Given the description of an element on the screen output the (x, y) to click on. 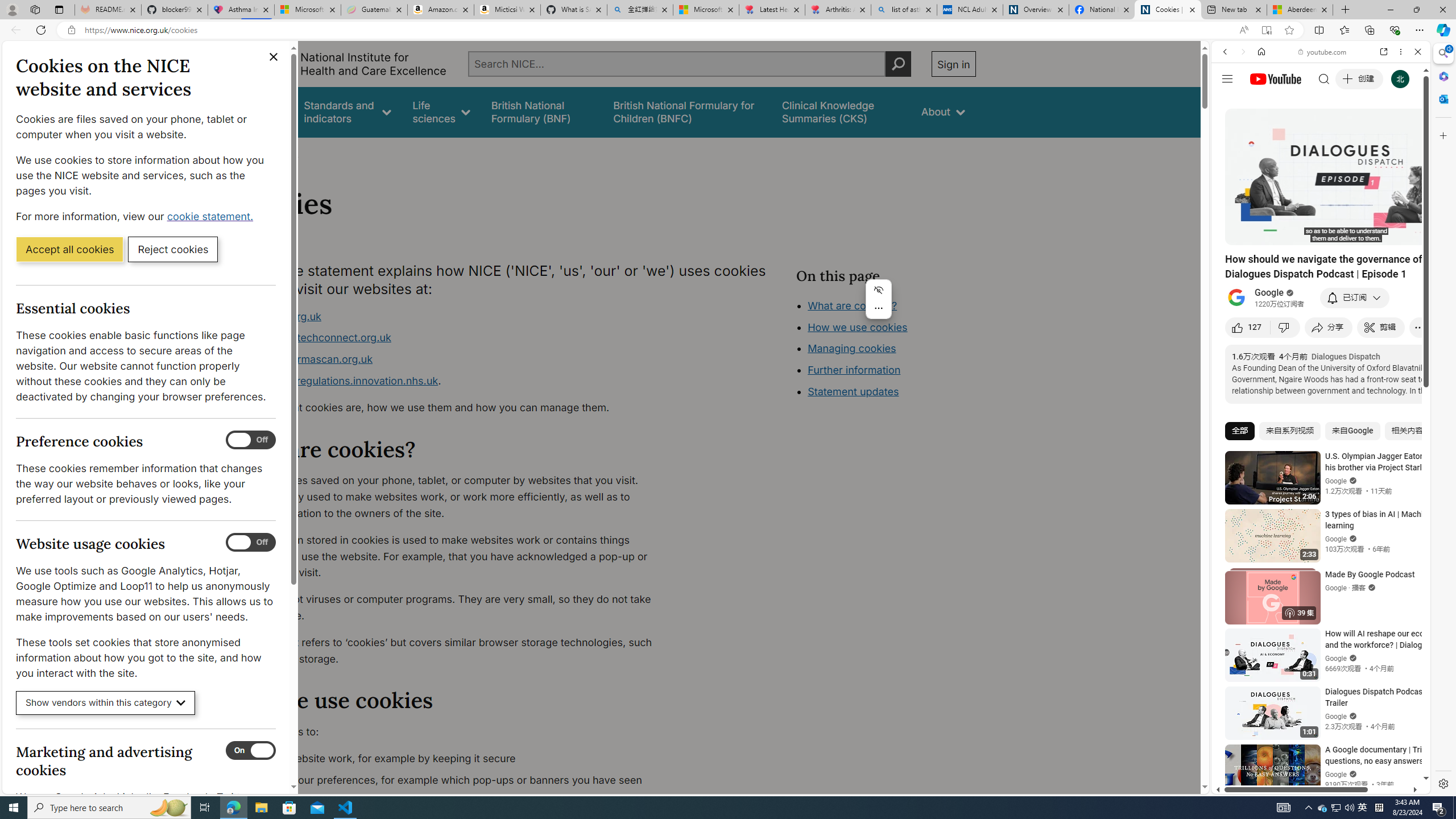
Mini menu on text selection (878, 305)
Show vendors within this category (105, 703)
